Given the description of an element on the screen output the (x, y) to click on. 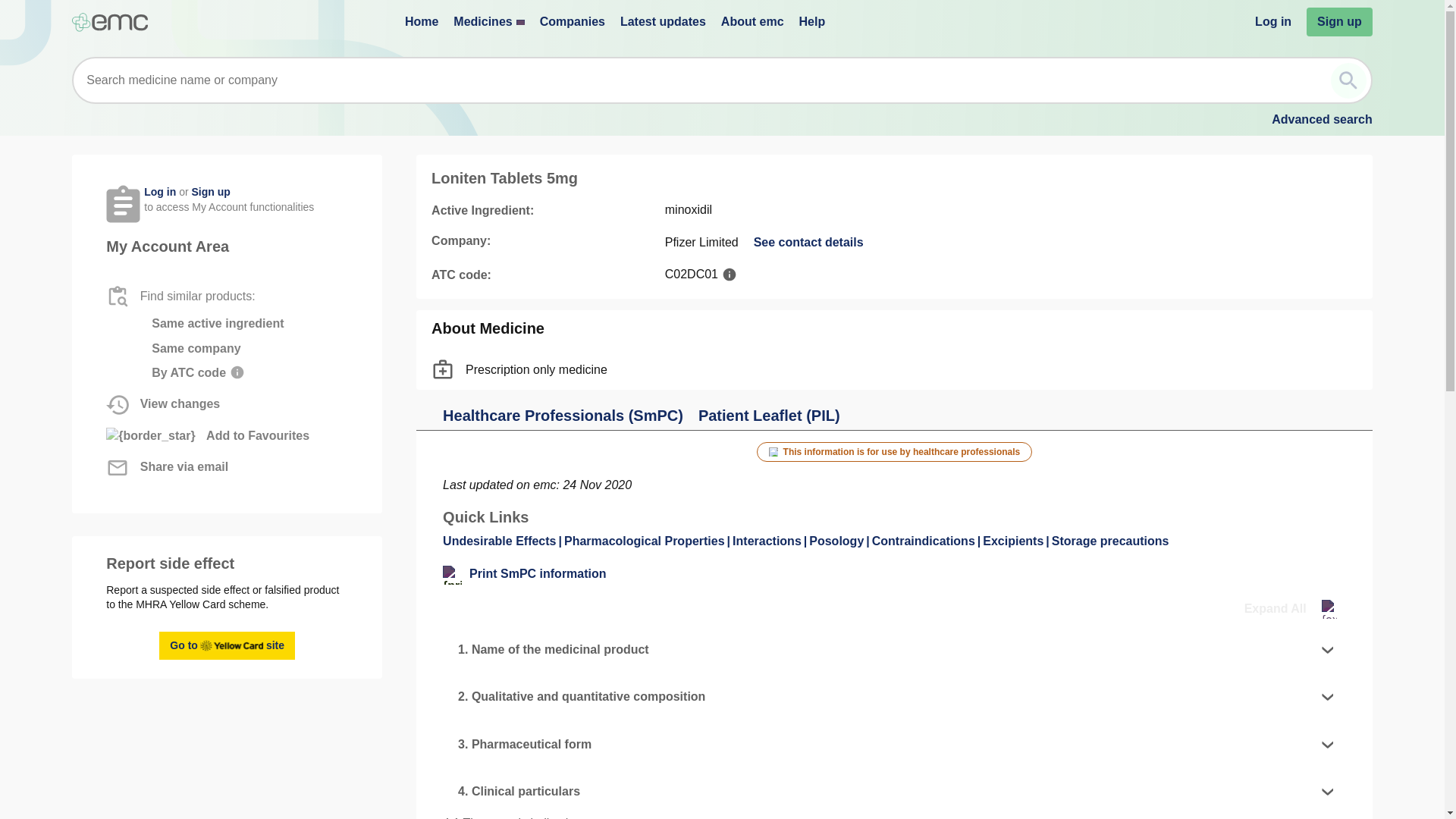
Contraindications (928, 541)
emc Search (1347, 80)
Undesirable Effects (503, 541)
Log in (1273, 21)
Excipients (1016, 541)
Expand All (226, 645)
Help (1290, 609)
Link to Pfizer Limited details (812, 21)
Sign up (808, 242)
Home (210, 191)
back to home page (421, 21)
Companies (109, 22)
See contact details (572, 21)
Pharmacological Properties (808, 242)
